Given the description of an element on the screen output the (x, y) to click on. 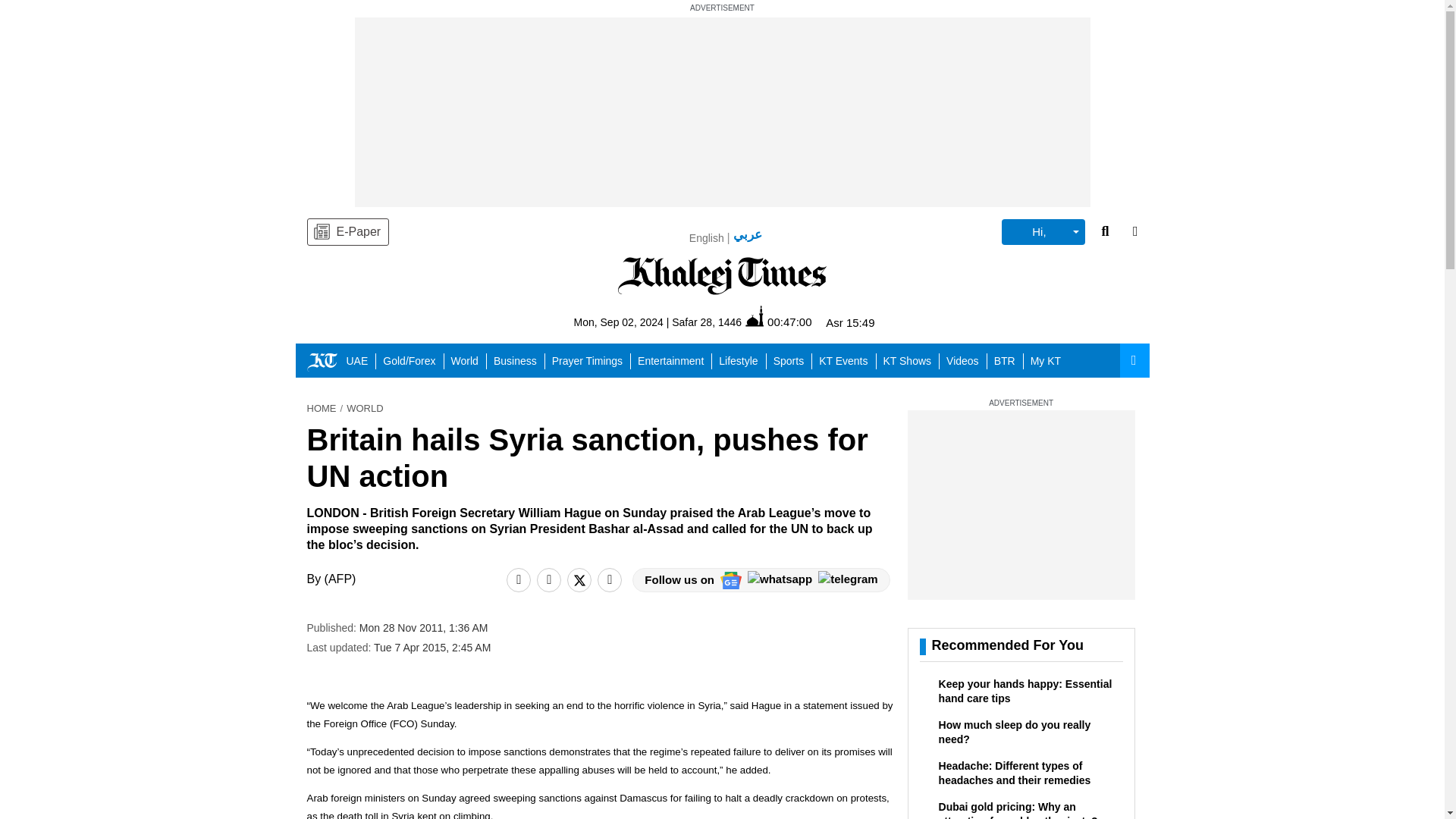
00:47:00 (777, 321)
Hi, (1042, 232)
Asr 15:49 (850, 322)
E-Paper (346, 231)
